Given the description of an element on the screen output the (x, y) to click on. 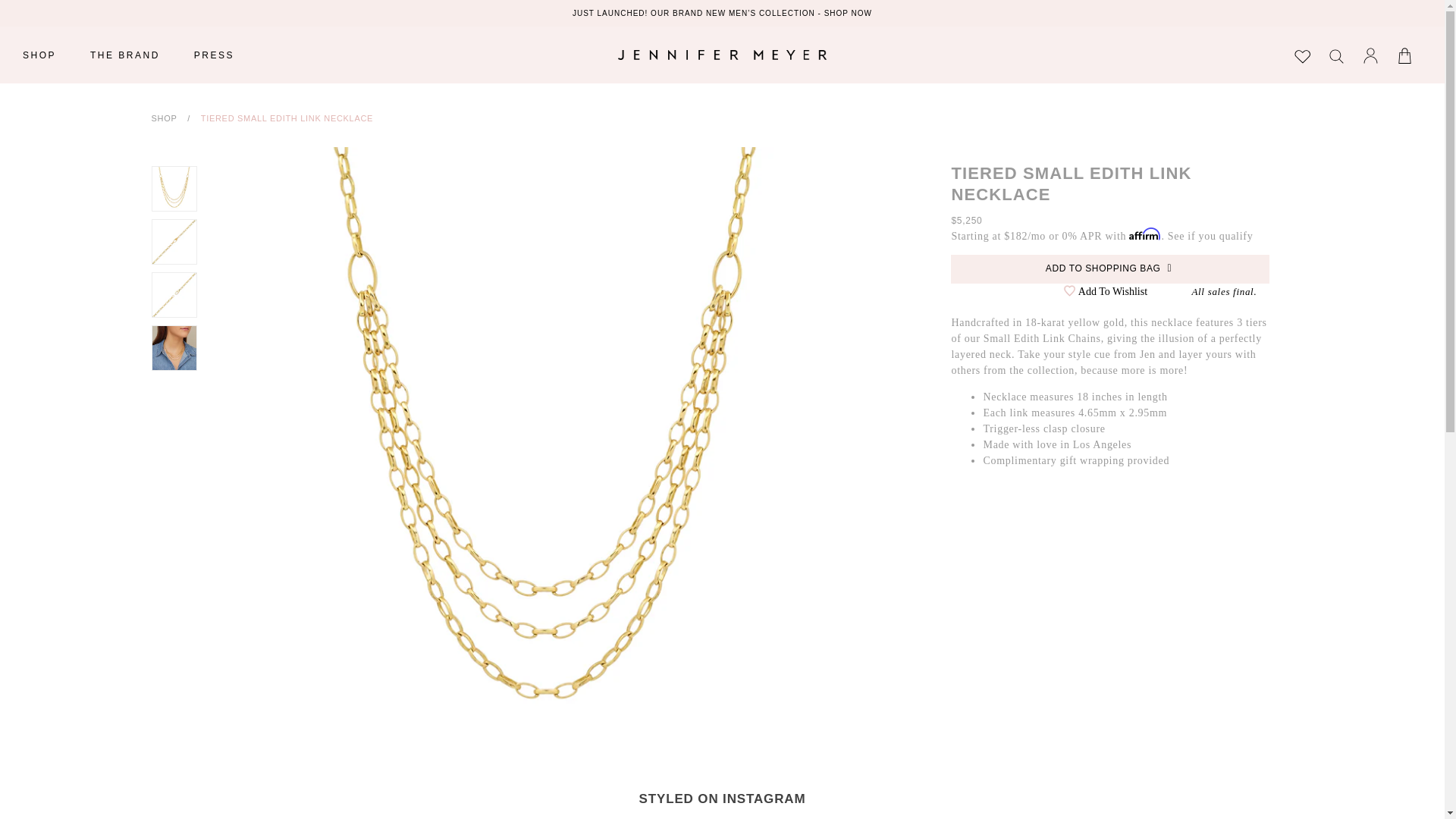
Back to shop (164, 117)
Jennifer Meyer (722, 54)
SHOP (39, 55)
